Given the description of an element on the screen output the (x, y) to click on. 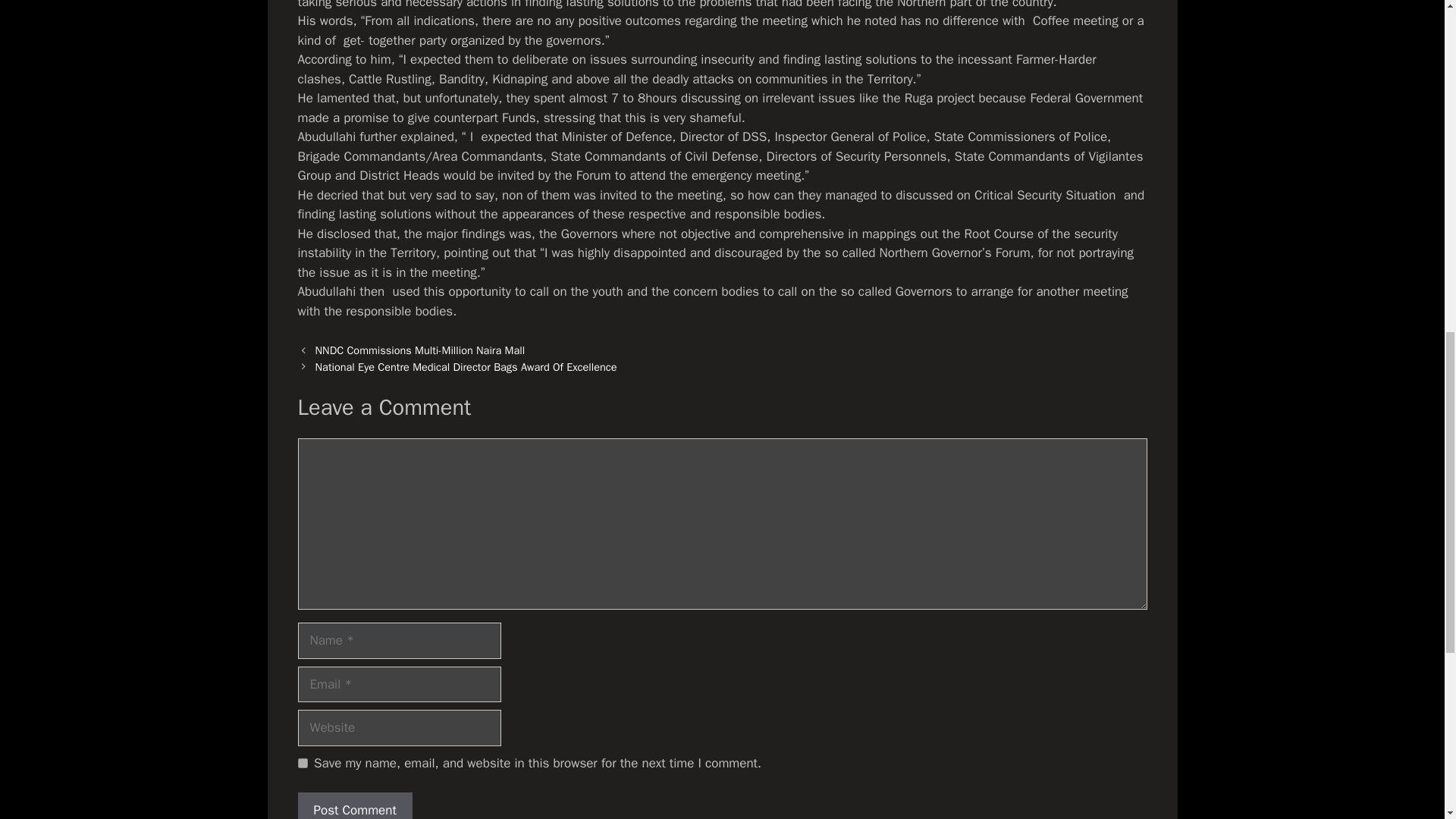
Post Comment (354, 805)
yes (302, 763)
Post Comment (354, 805)
NNDC Commissions Multi-Million Naira Mall (420, 350)
